Given the description of an element on the screen output the (x, y) to click on. 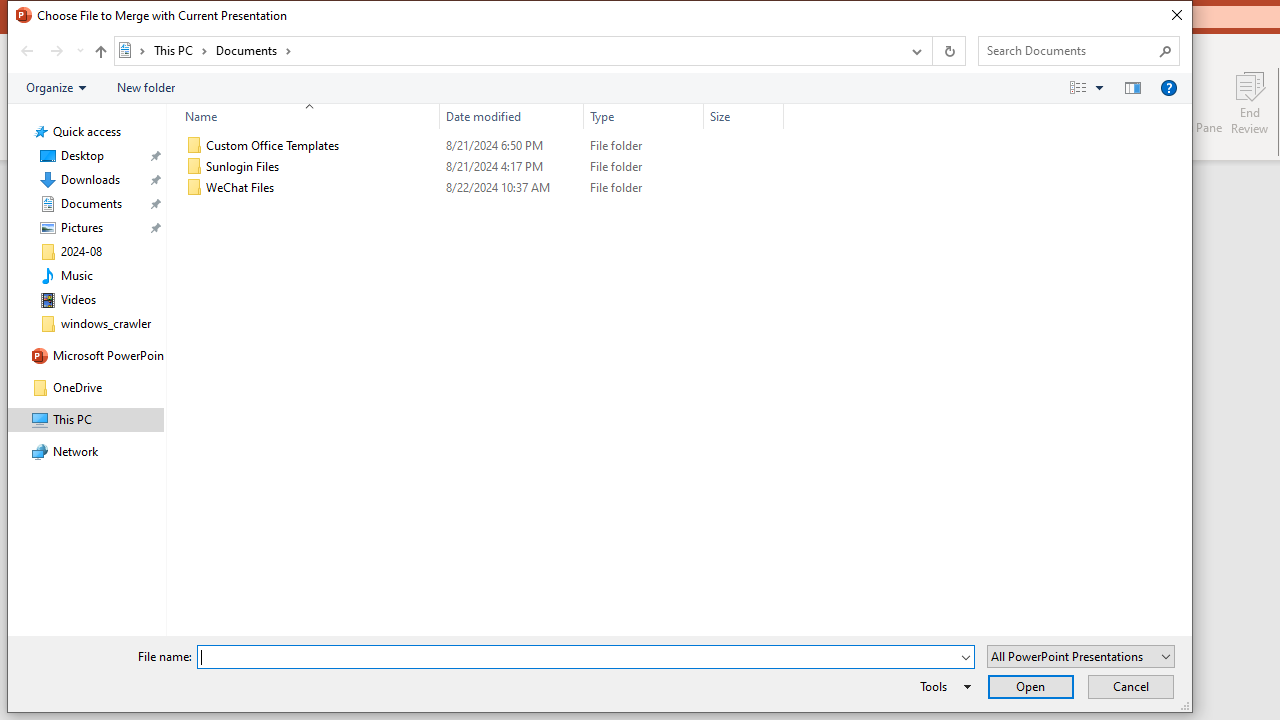
Filter dropdown (775, 115)
